Given the description of an element on the screen output the (x, y) to click on. 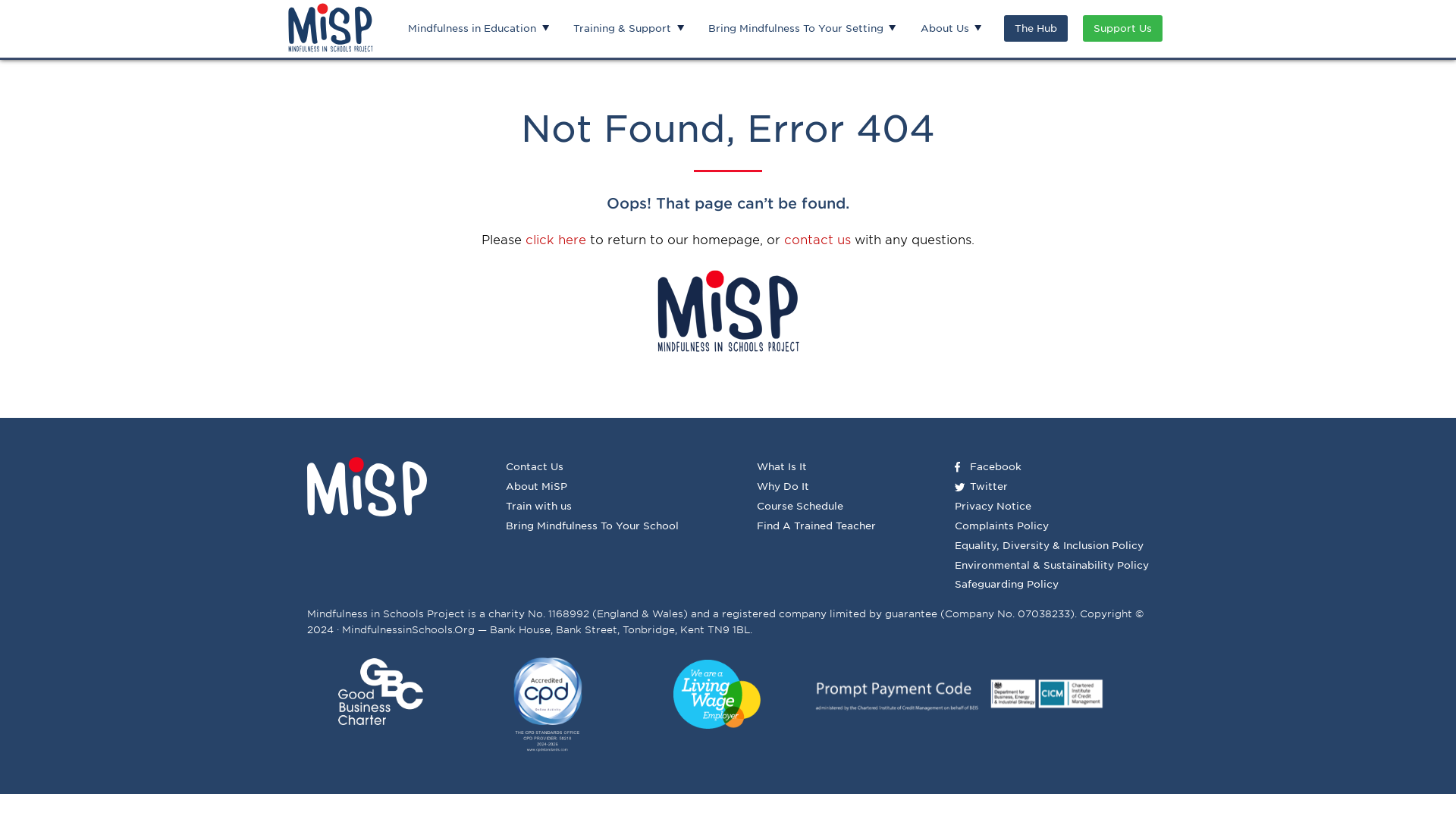
Bring Mindfulness To Your Setting (796, 28)
Mindfulness in Education (472, 28)
Follow Us on Twitter (988, 486)
Follow Us on Facebook (995, 466)
Mindfulness in Schools Project (330, 27)
